Given the description of an element on the screen output the (x, y) to click on. 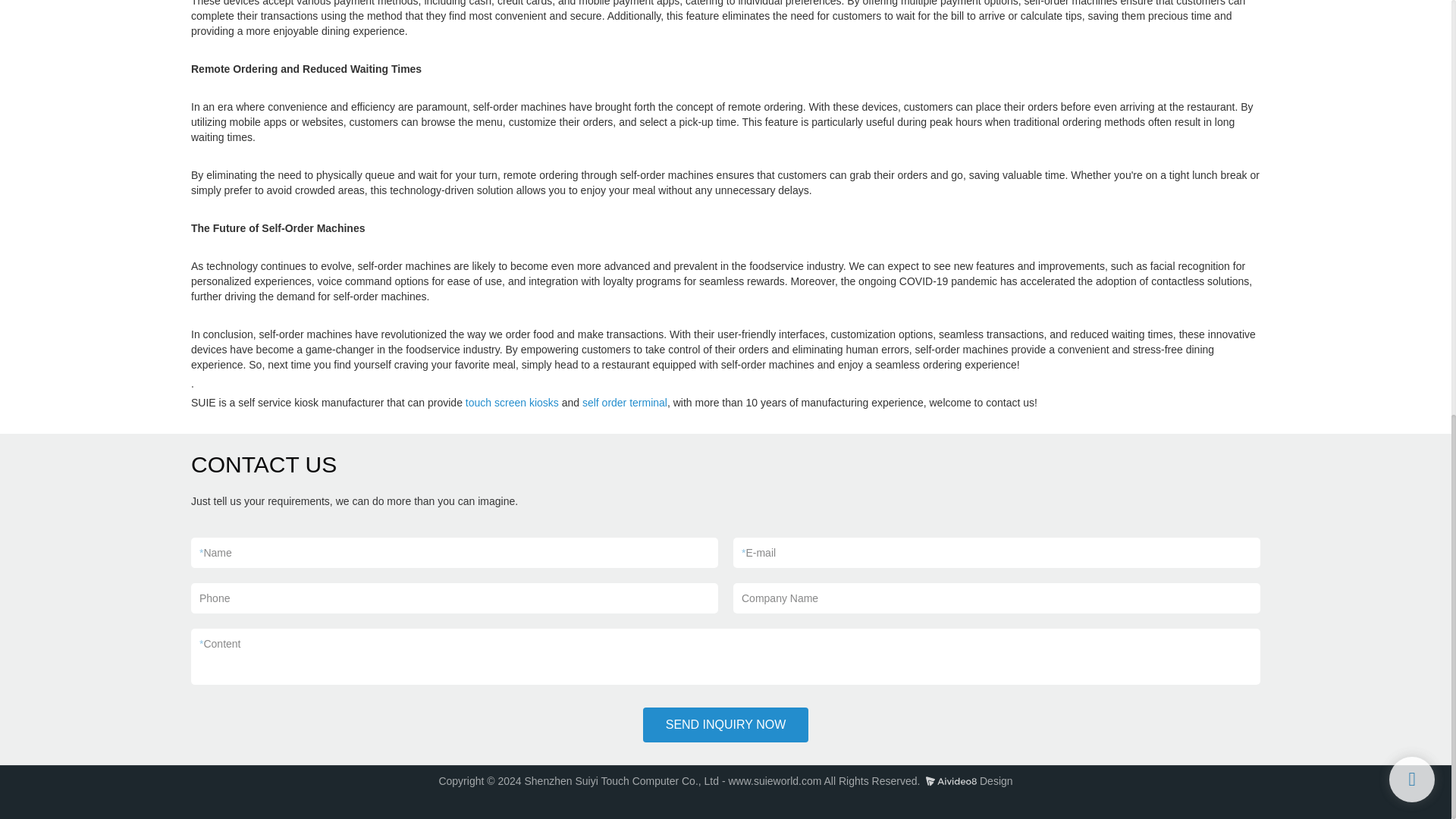
touch screen kiosks (512, 402)
self order terminal (624, 402)
self order terminal (624, 402)
touch screen kiosks (512, 402)
SEND INQUIRY NOW (726, 724)
